Given the description of an element on the screen output the (x, y) to click on. 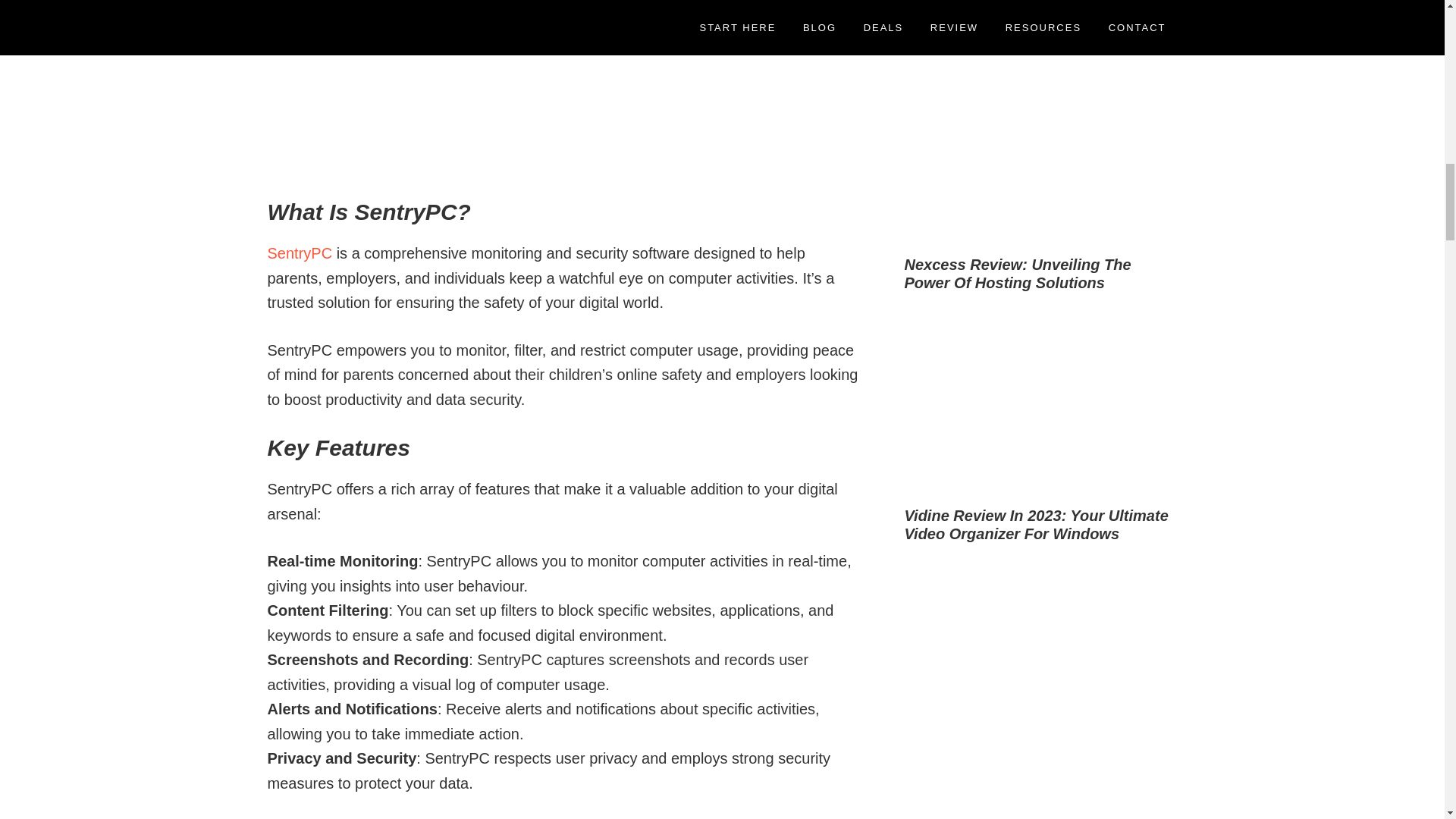
SentryPC (301, 252)
